Given the description of an element on the screen output the (x, y) to click on. 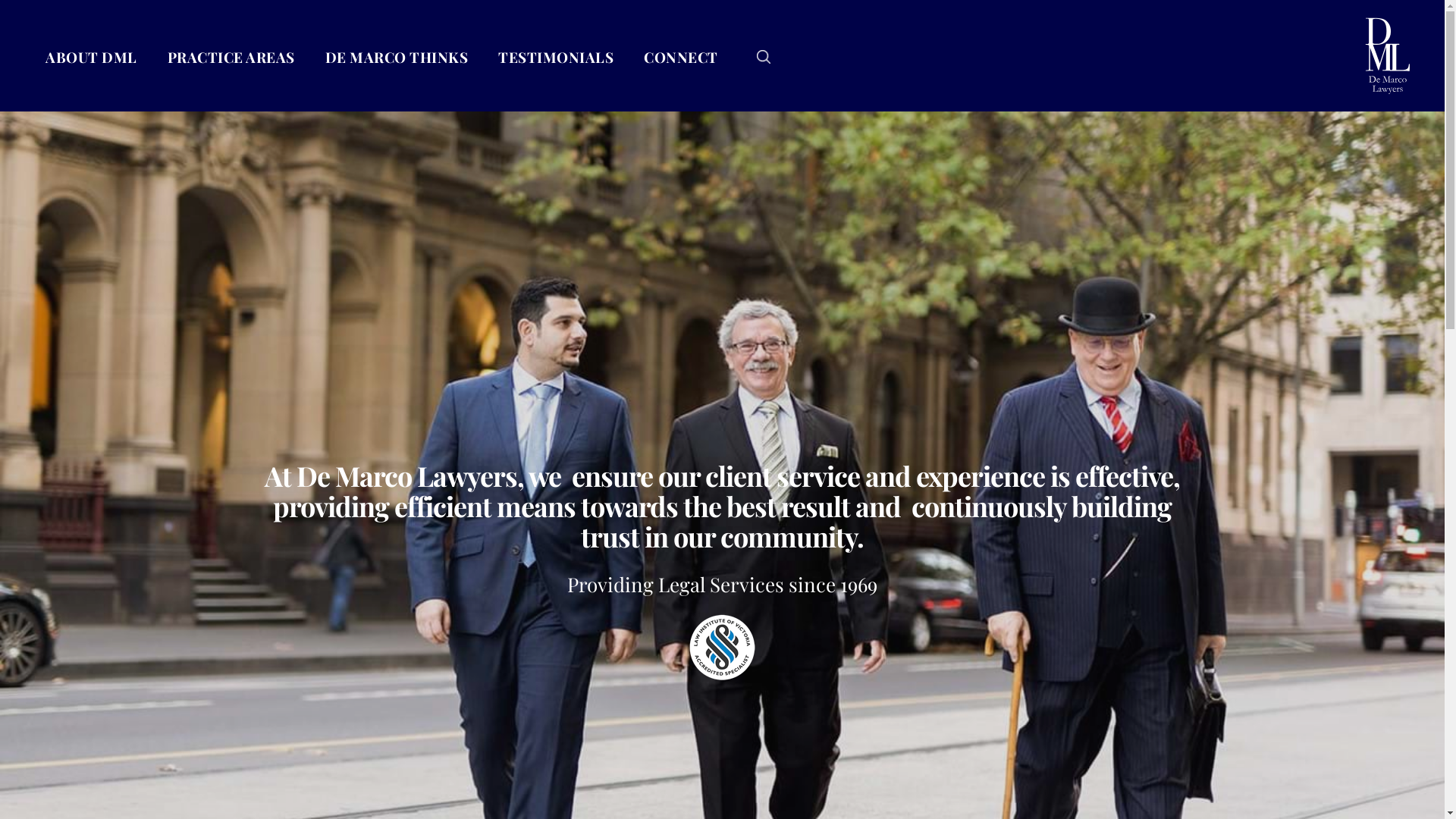
TESTIMONIALS Element type: text (555, 56)
DE MARCO THINKS Element type: text (396, 56)
ABOUT DML Element type: text (91, 56)
CONNECT Element type: text (680, 56)
PRACTICE AREAS Element type: text (230, 56)
